Given the description of an element on the screen output the (x, y) to click on. 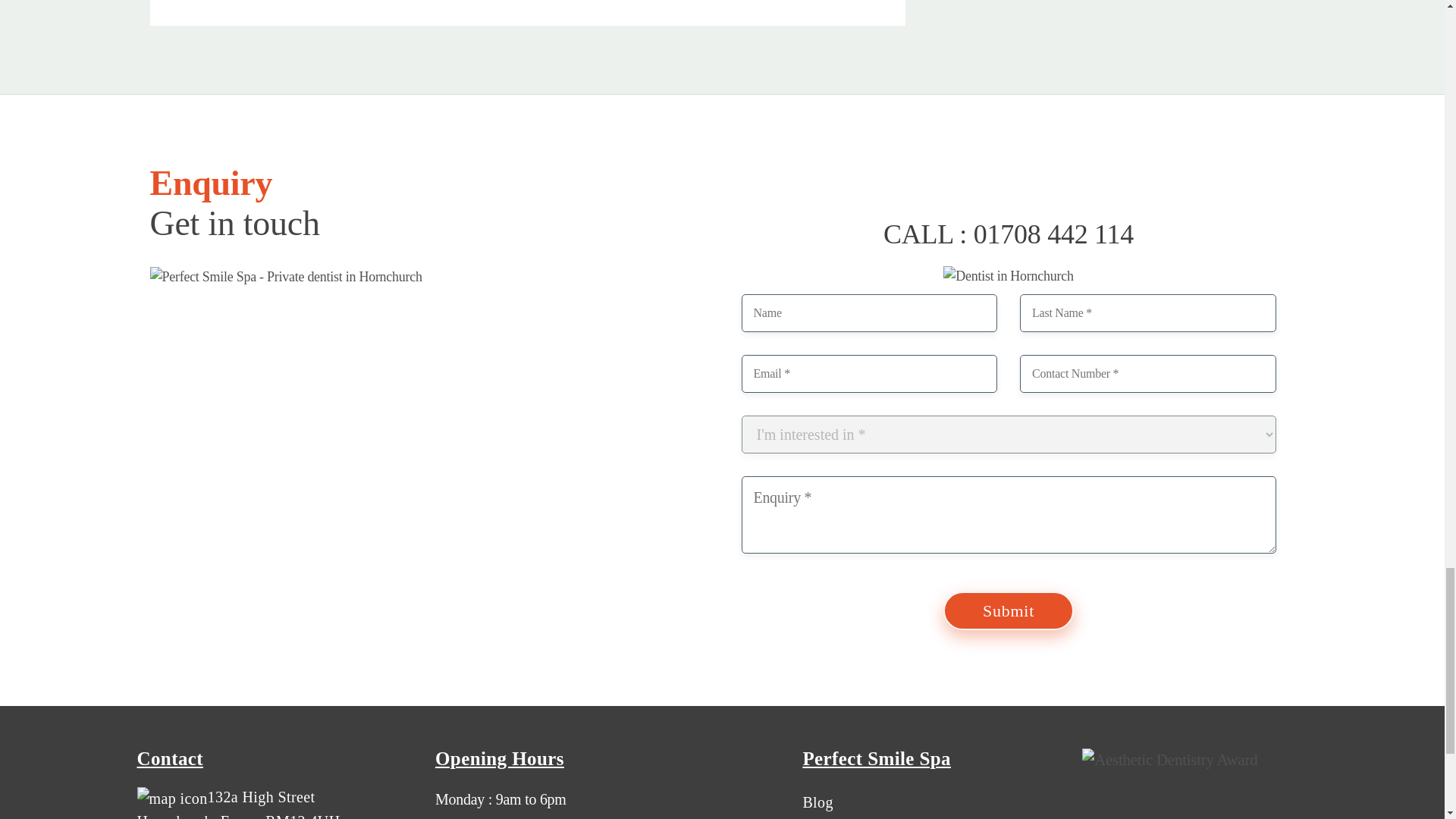
Submit (1008, 610)
